Given the description of an element on the screen output the (x, y) to click on. 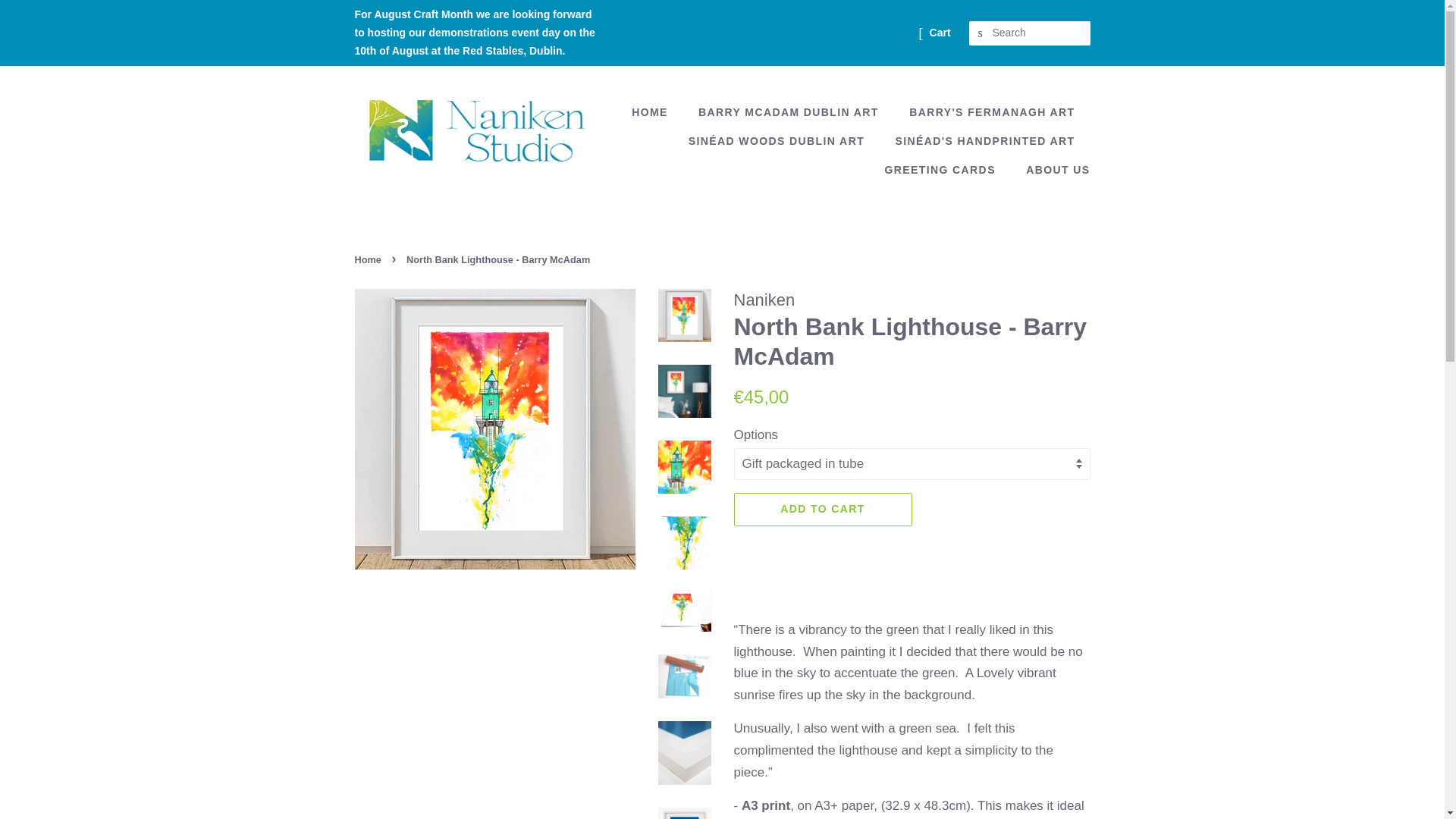
Back to the frontpage (370, 259)
Cart (940, 33)
GREETING CARDS (941, 170)
HOME (656, 112)
BARRY'S FERMANAGH ART (993, 112)
Home (370, 259)
SEARCH (980, 33)
BARRY MCADAM DUBLIN ART (790, 112)
ADD TO CART (822, 509)
ABOUT US (1051, 170)
